Given the description of an element on the screen output the (x, y) to click on. 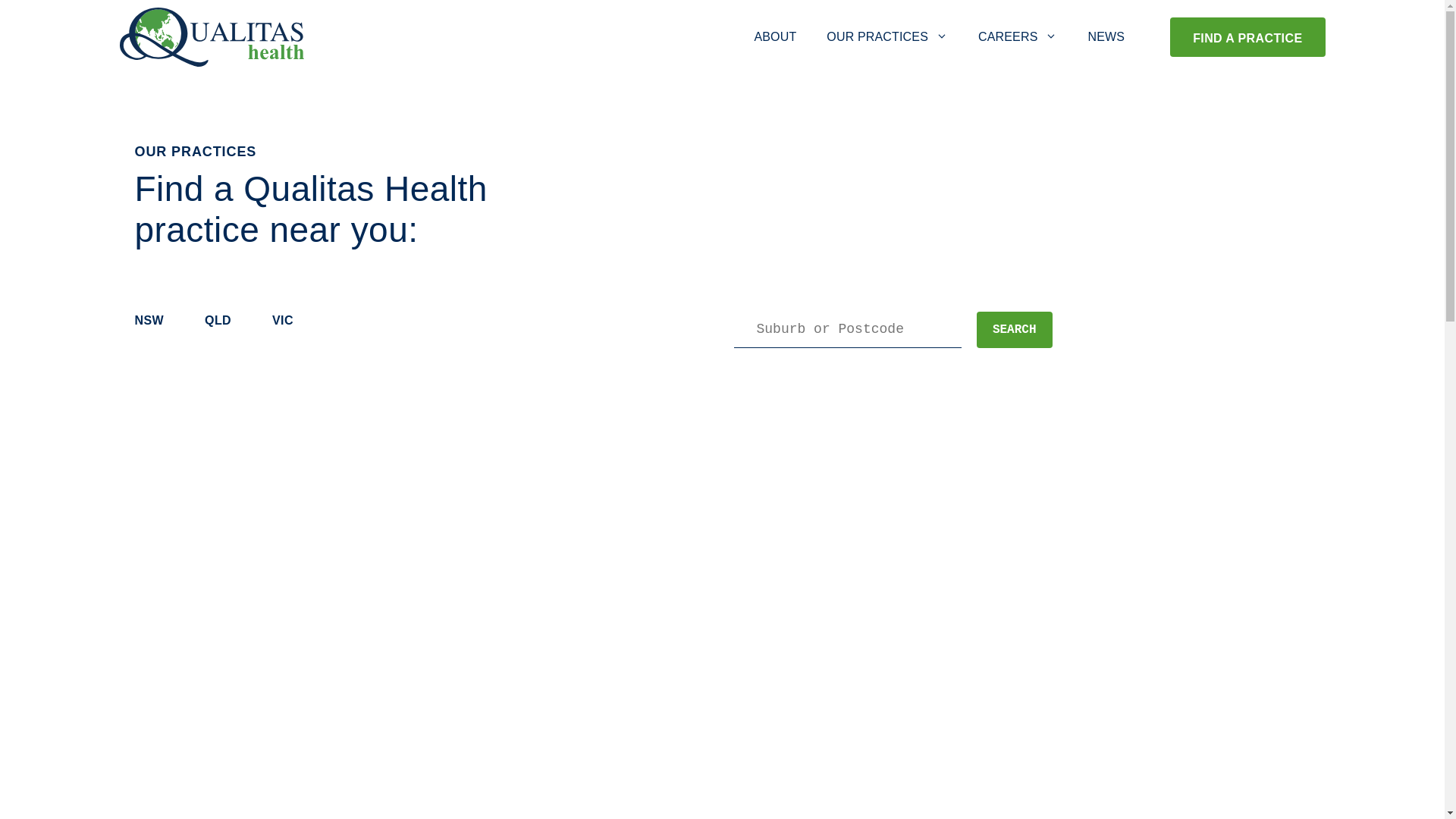
NSW Element type: text (158, 320)
FIND A PRACTICE Element type: text (1247, 37)
QLD Element type: text (226, 320)
SEARCH Element type: text (1014, 329)
NEWS Element type: text (1105, 37)
OUR PRACTICES Element type: text (887, 37)
ABOUT Element type: text (774, 37)
VIC Element type: text (291, 320)
Qualitas Health Element type: hover (211, 37)
CAREERS Element type: text (1017, 37)
